Given the description of an element on the screen output the (x, y) to click on. 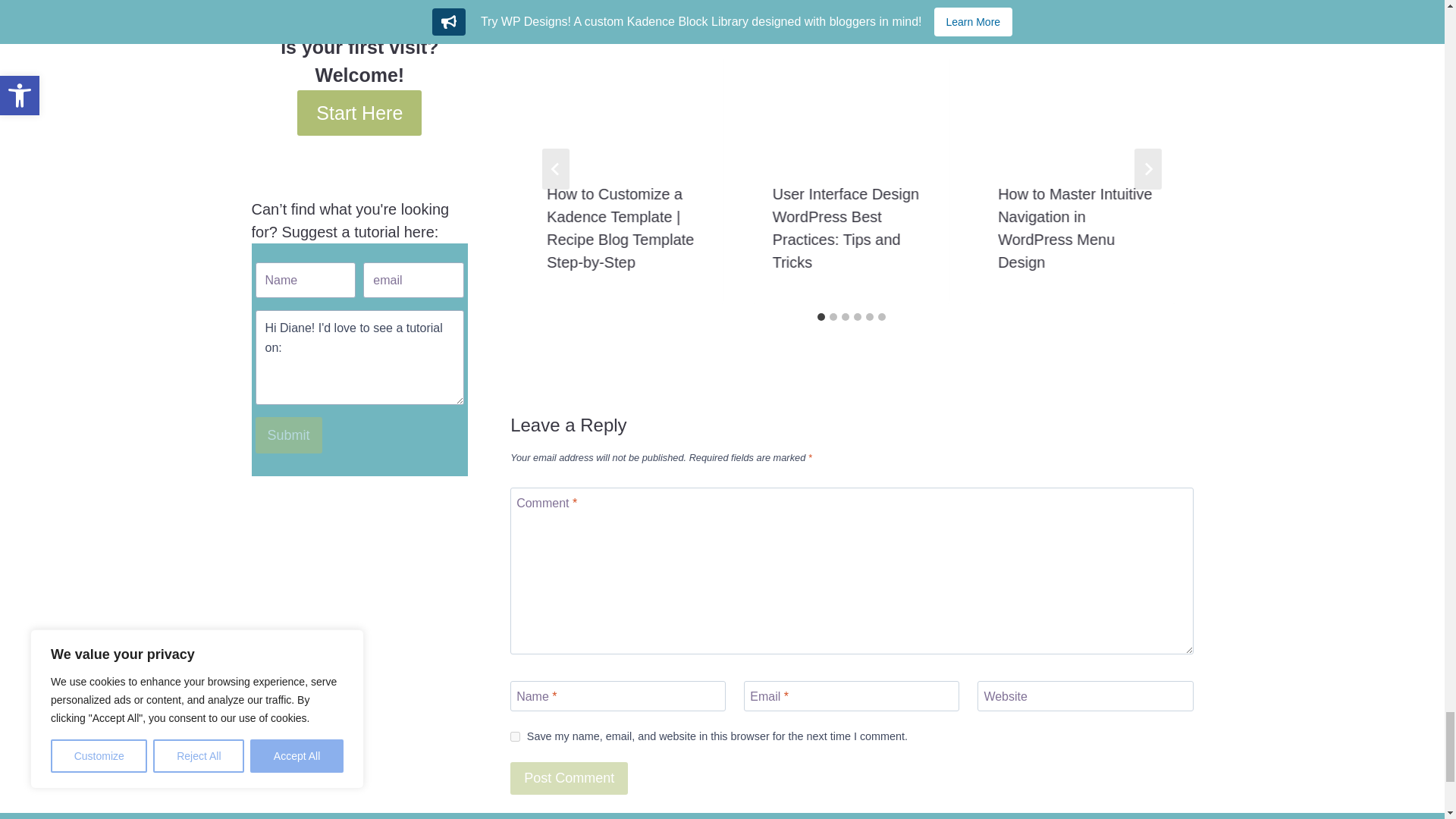
yes (515, 737)
Post Comment (569, 778)
